Given the description of an element on the screen output the (x, y) to click on. 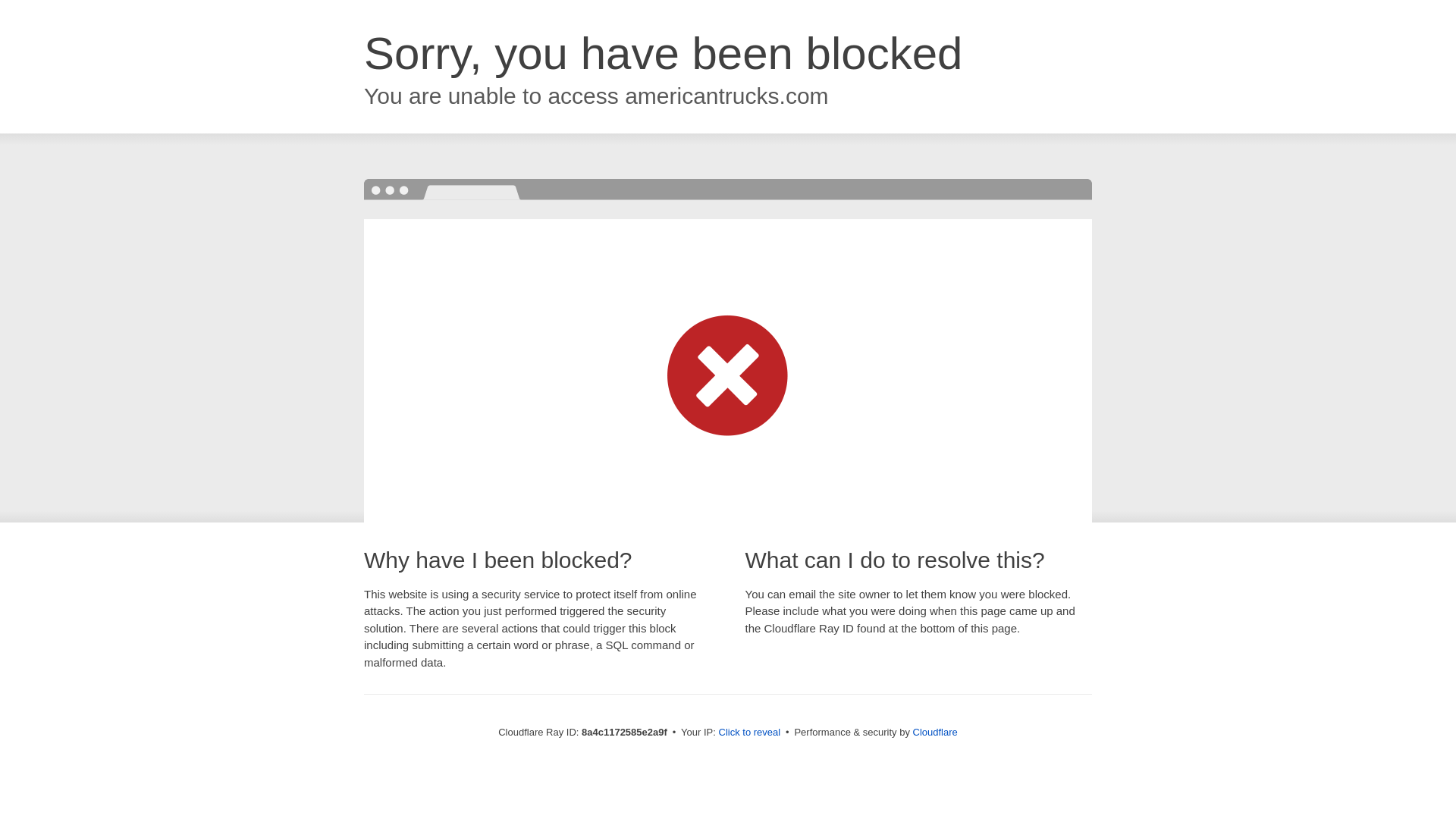
Cloudflare (935, 731)
Click to reveal (749, 732)
